Given the description of an element on the screen output the (x, y) to click on. 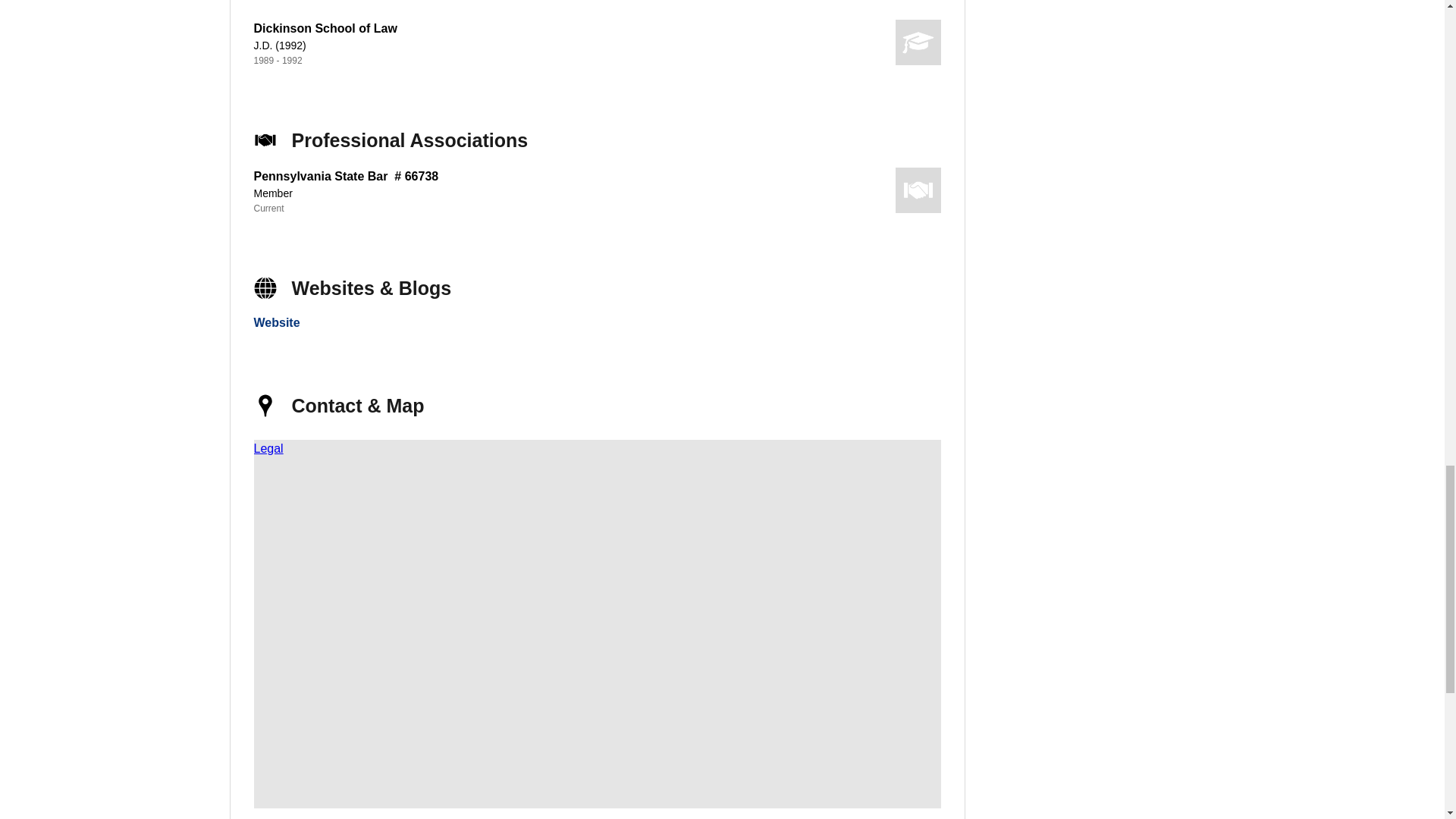
Website (276, 322)
